Given the description of an element on the screen output the (x, y) to click on. 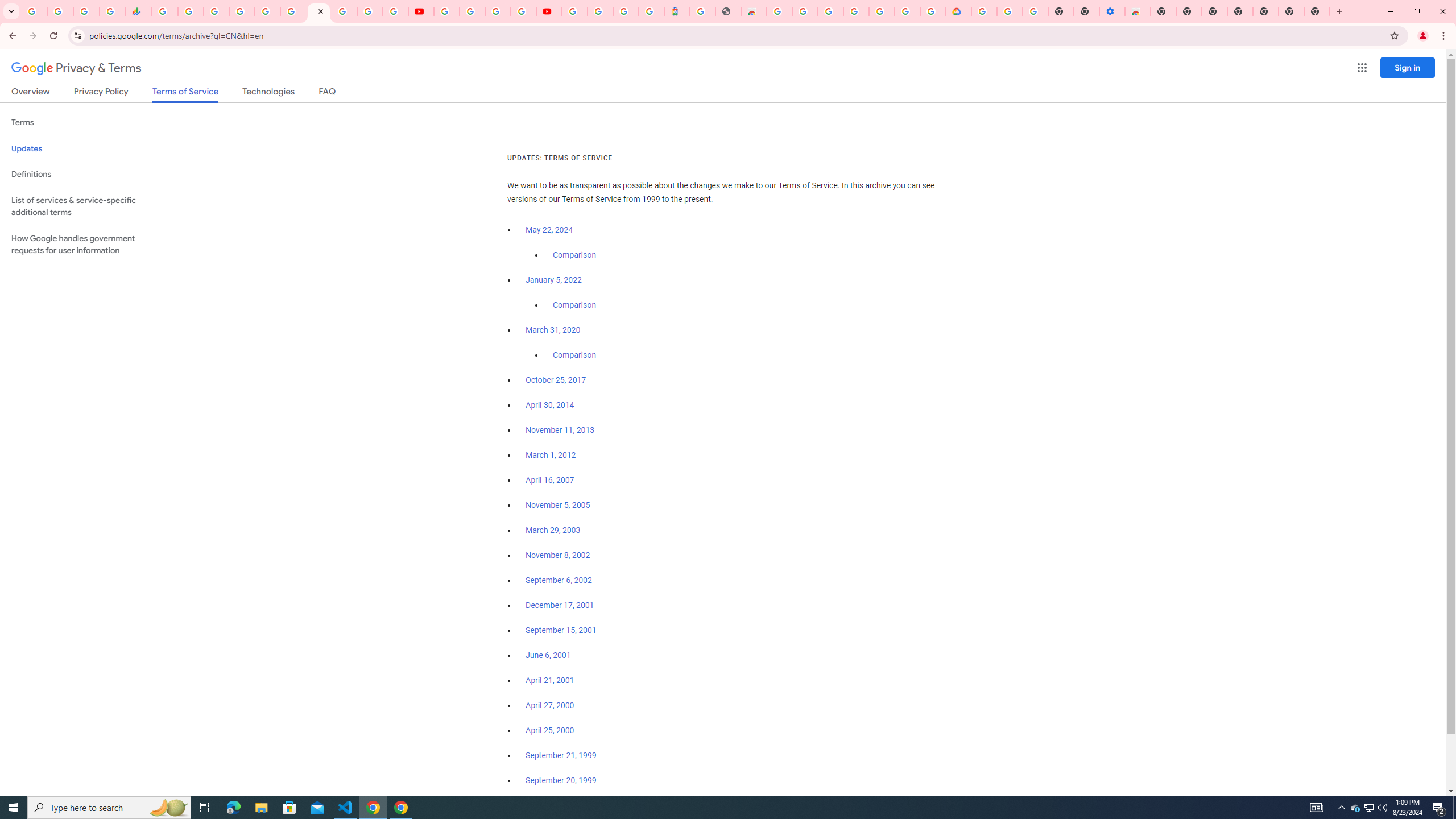
June 6, 2001 (547, 655)
March 1, 2012 (550, 455)
FAQ (327, 93)
December 17, 2001 (559, 605)
Google Workspace Admin Community (34, 11)
November 5, 2005 (557, 505)
October 25, 2017 (555, 380)
New Tab (1162, 11)
Overview (30, 93)
Technologies (268, 93)
January 5, 2022 (553, 280)
